Given the description of an element on the screen output the (x, y) to click on. 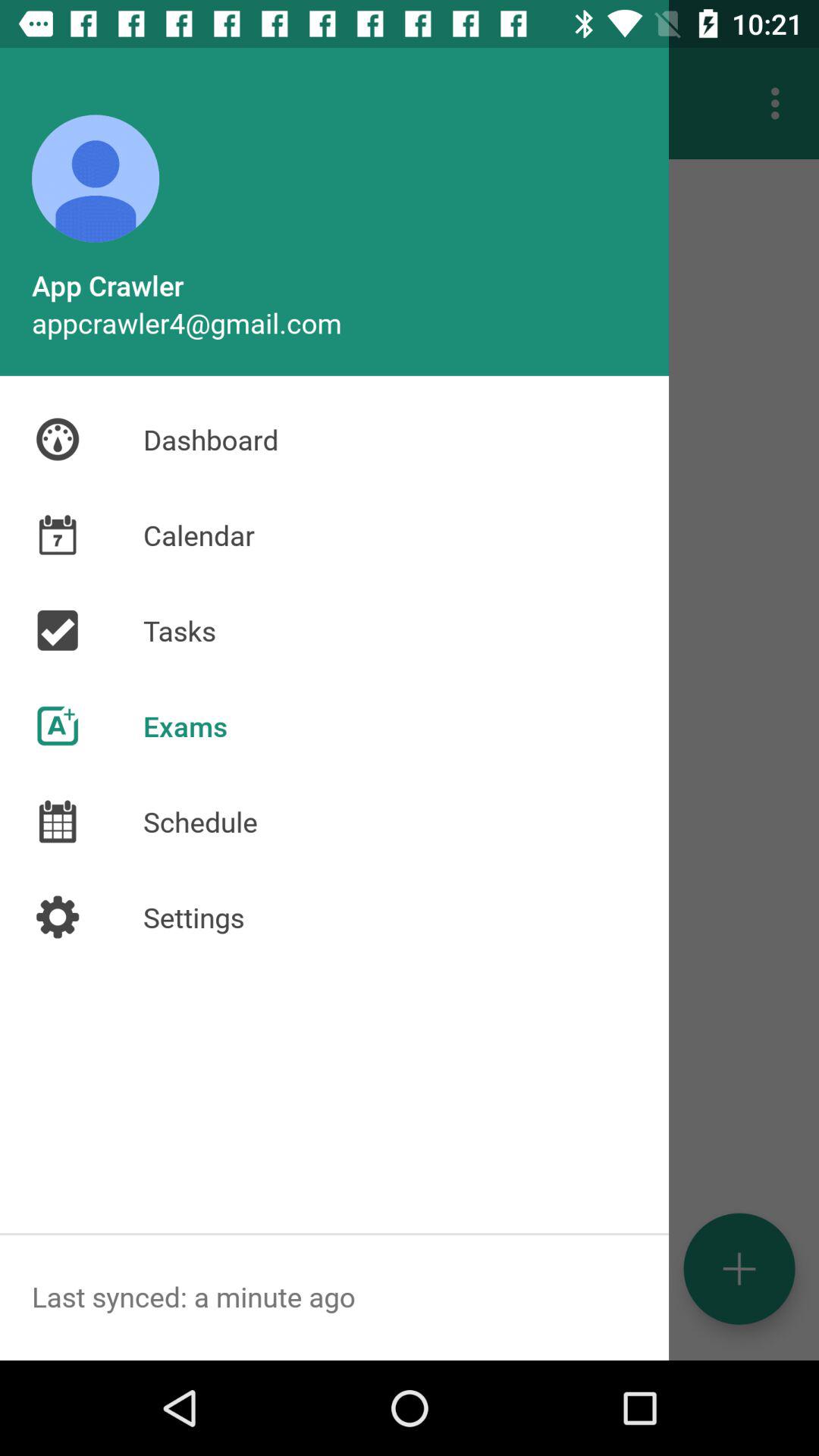
icon before exams text (57, 726)
click on image above app crawler (94, 179)
